Given the description of an element on the screen output the (x, y) to click on. 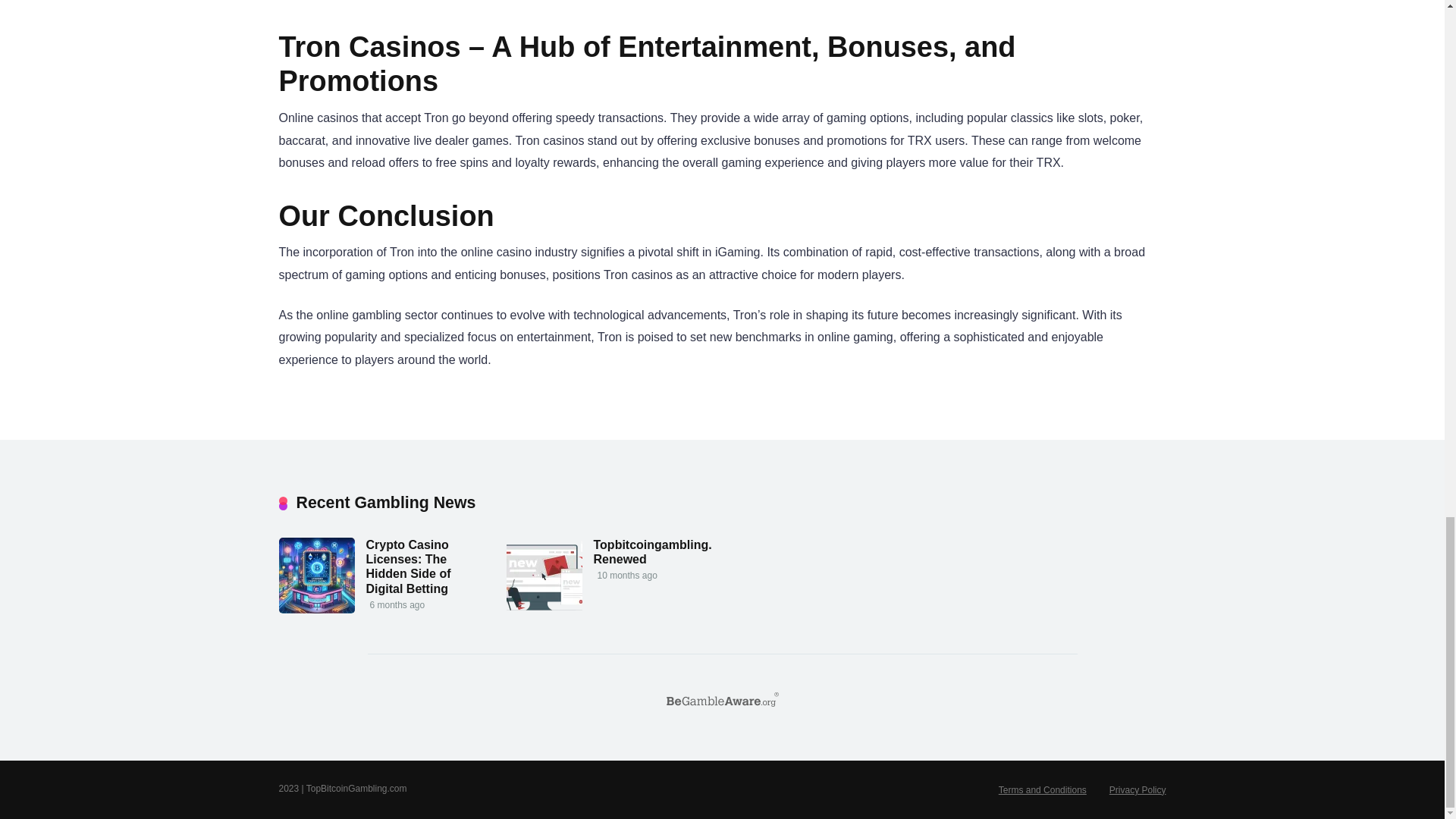
Terms and Conditions (1042, 789)
Privacy Policy (1137, 789)
Crypto Casino Licenses: The Hidden Side of Digital Betting (407, 567)
Topbitcoingambling.com Renewed (664, 552)
